Given the description of an element on the screen output the (x, y) to click on. 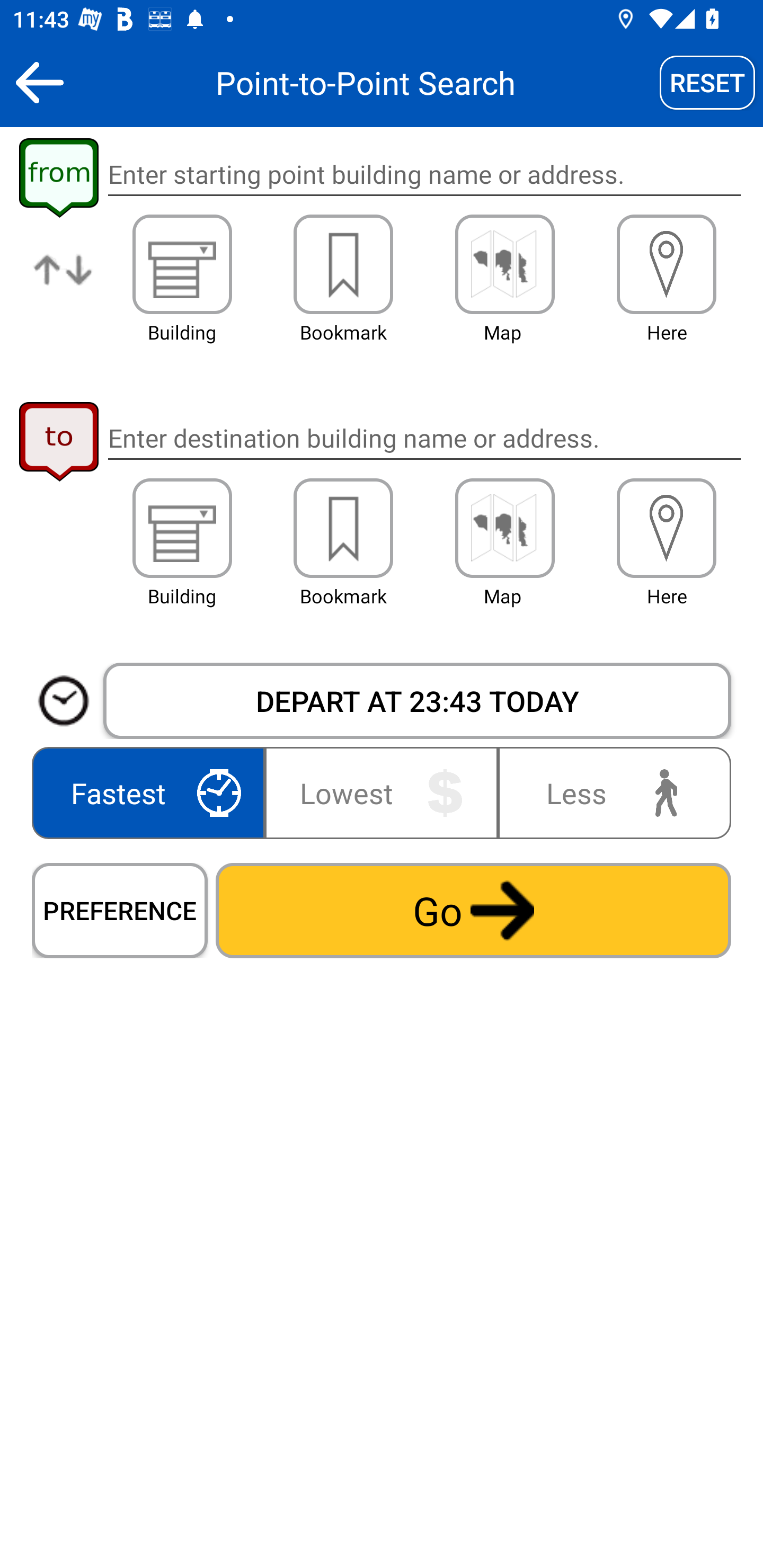
Back (39, 82)
RESET Reset (707, 81)
Enter starting point building name or address. (423, 174)
Building (181, 263)
Bookmarks (342, 263)
Select location on map (504, 263)
Here (666, 263)
Swap origin and destination (63, 284)
Enter destination building name or address. (423, 437)
Building (181, 528)
Bookmarks (342, 528)
Select location on map (504, 528)
Here (666, 528)
Lowest (381, 792)
Fastest selected (151, 792)
Less (610, 792)
PREFERENCE Preference (119, 910)
Go (472, 910)
